Given the description of an element on the screen output the (x, y) to click on. 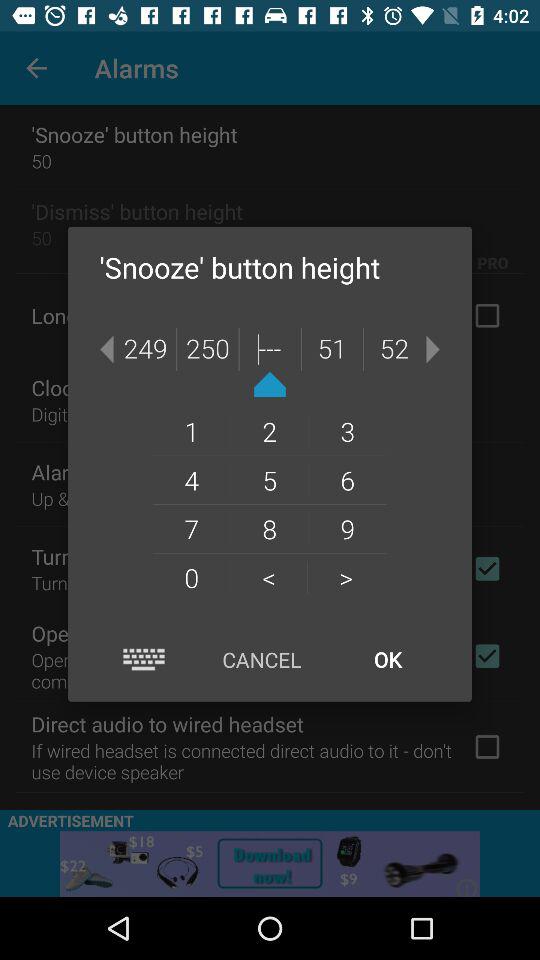
swipe to the 2 item (269, 431)
